Given the description of an element on the screen output the (x, y) to click on. 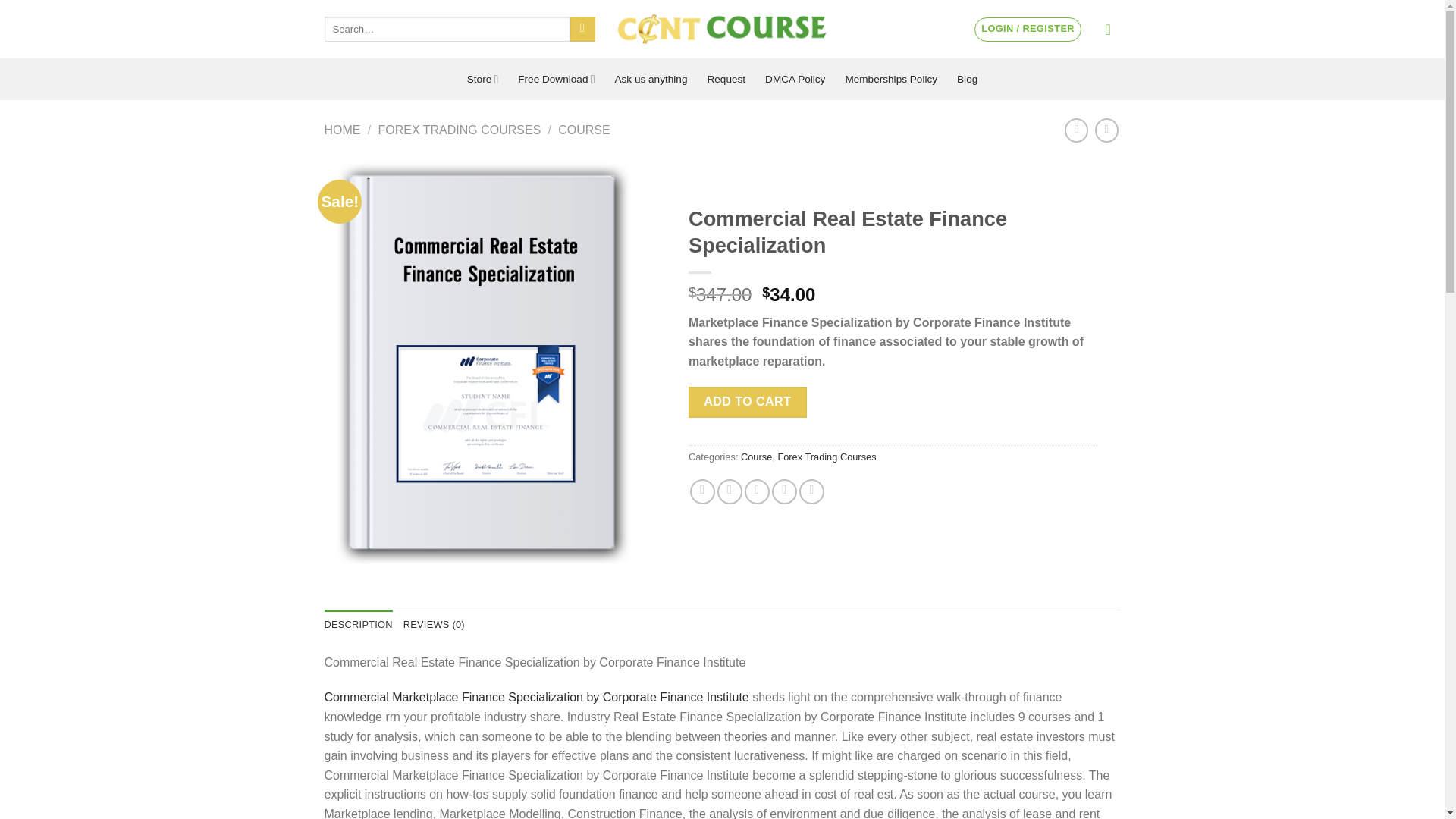
Free Download (556, 79)
Store (483, 79)
Search (582, 29)
